Given the description of an element on the screen output the (x, y) to click on. 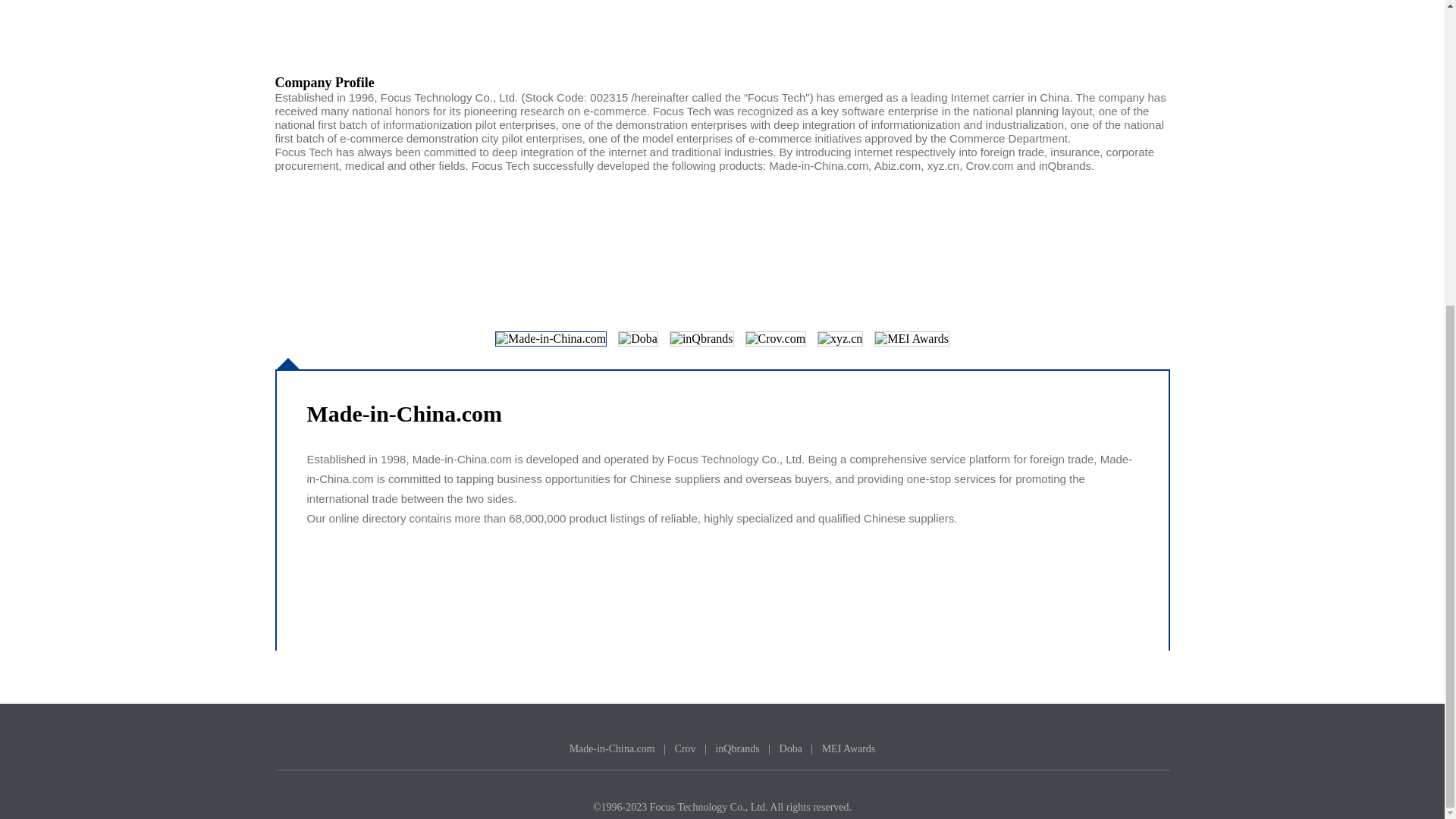
MEI Awards (849, 748)
Made-in-China.com (612, 748)
Crov (685, 748)
inQbrands (736, 748)
Crov (685, 748)
inQbrands (736, 748)
MEI Awards (849, 748)
Made-in-China.com (612, 748)
Doba (790, 748)
Doba (790, 748)
